Given the description of an element on the screen output the (x, y) to click on. 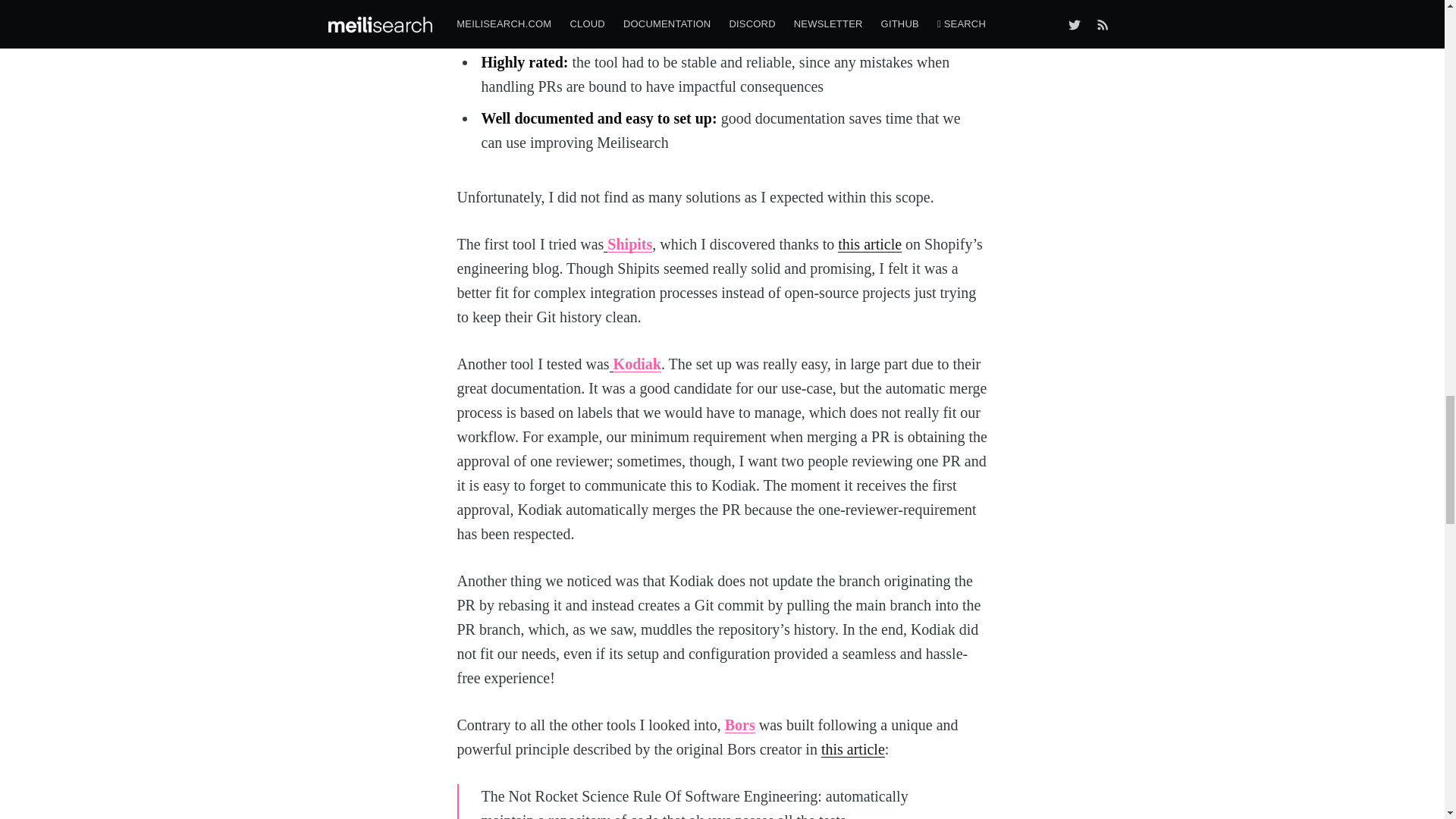
Bors (740, 724)
Shipits (628, 243)
this article (869, 243)
Kodiak (635, 363)
this article (853, 749)
